Given the description of an element on the screen output the (x, y) to click on. 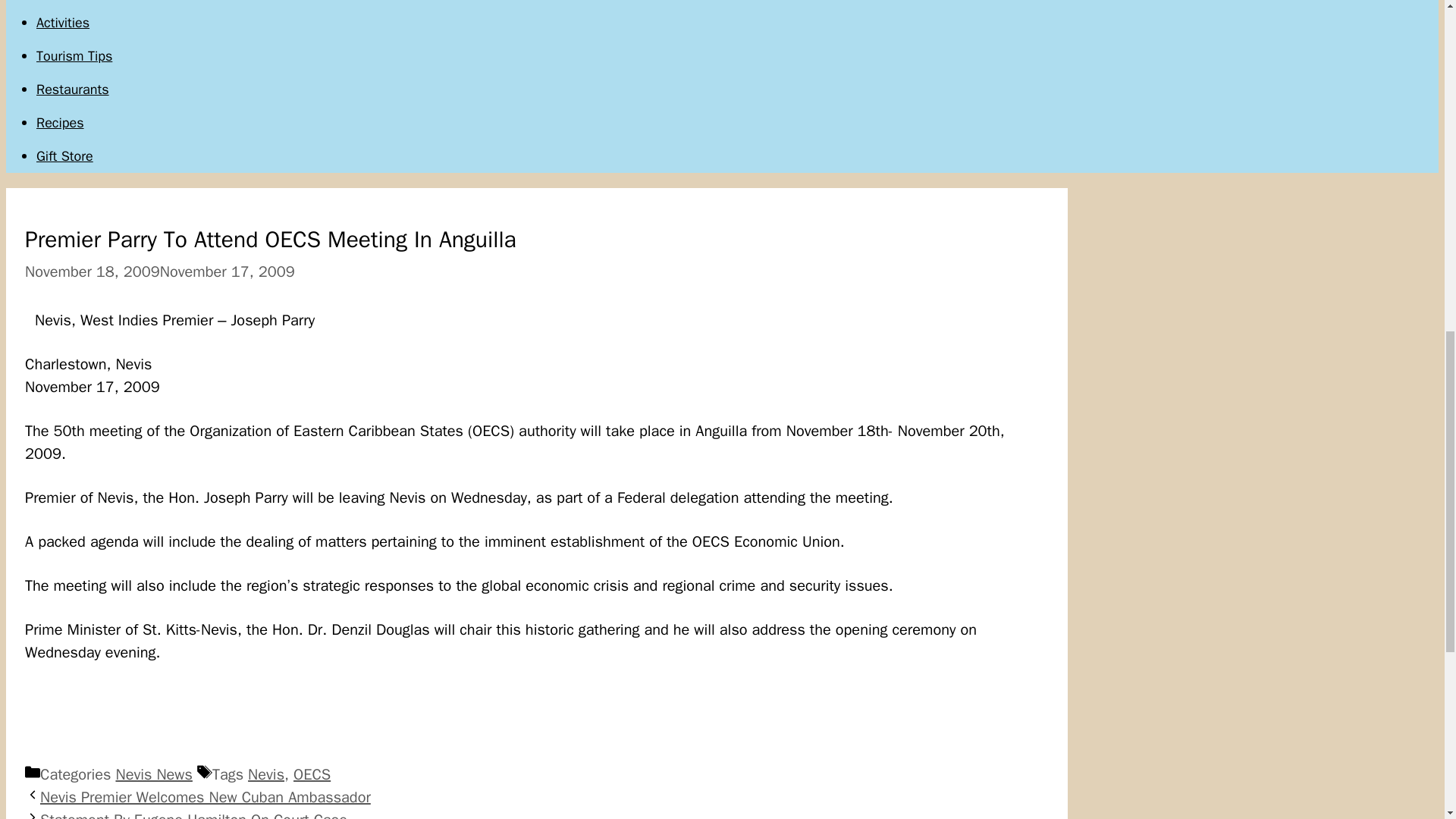
Restaurants (72, 89)
Gift Store (64, 156)
Recipes (60, 122)
Activities (62, 22)
Tourism Tips (74, 55)
Nevis Premier Welcomes New Cuban Ambassador (205, 796)
Nevis (265, 773)
Statement By Eugene Hamilton On Court Case (193, 814)
Nevis Activities and Events Calendar (62, 22)
OECS (312, 773)
Nevis News (153, 773)
